Given the description of an element on the screen output the (x, y) to click on. 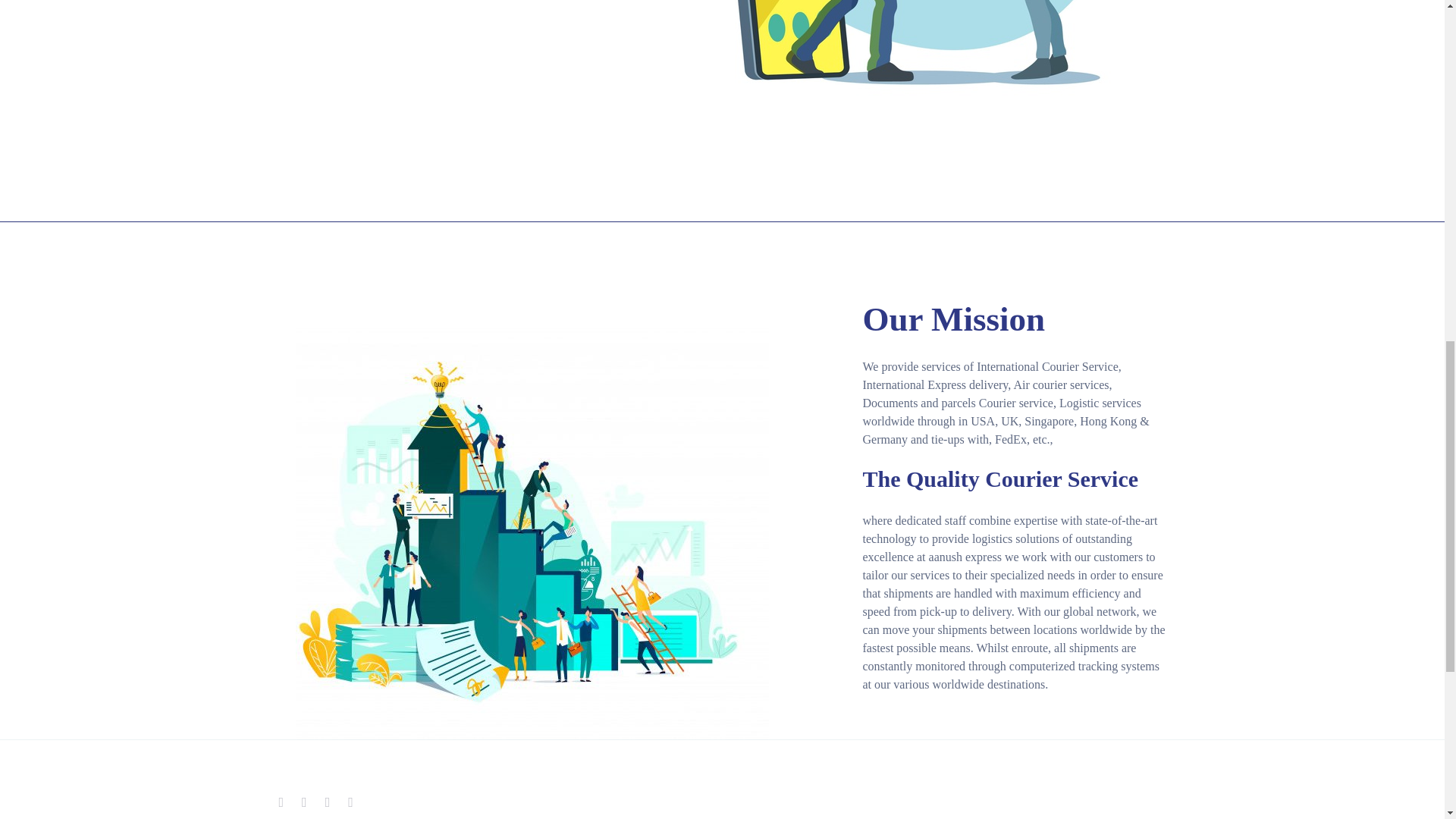
courier service chennai (911, 72)
